Given the description of an element on the screen output the (x, y) to click on. 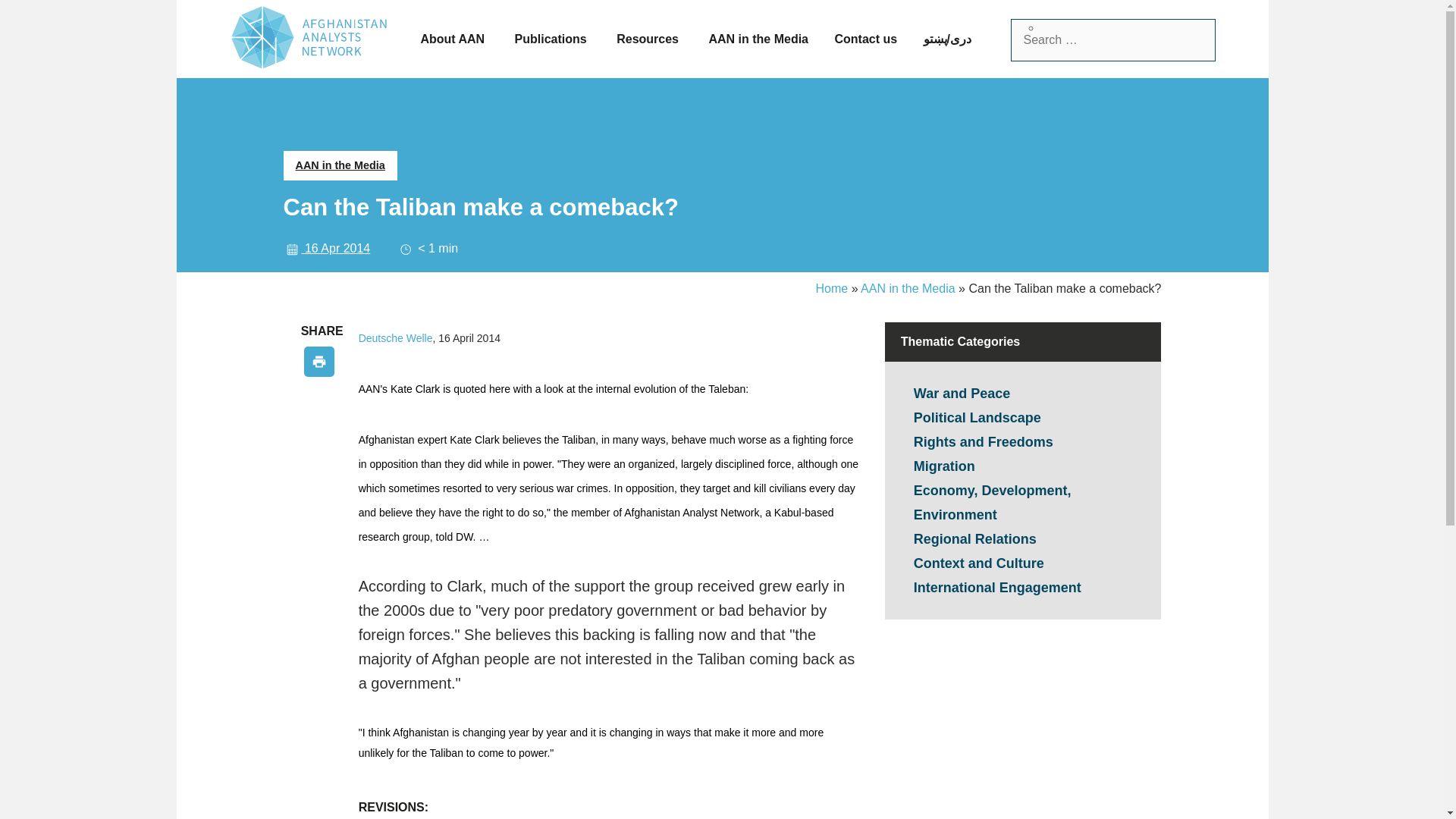
Publications (552, 38)
16 Apr 2014 (327, 247)
Resources (649, 38)
16 Apr 2014 (327, 247)
AAN in the Media (907, 287)
AAN in the Media (340, 165)
Contact us (865, 38)
About AAN (454, 38)
AAN in the Media (758, 38)
Home (831, 287)
